Given the description of an element on the screen output the (x, y) to click on. 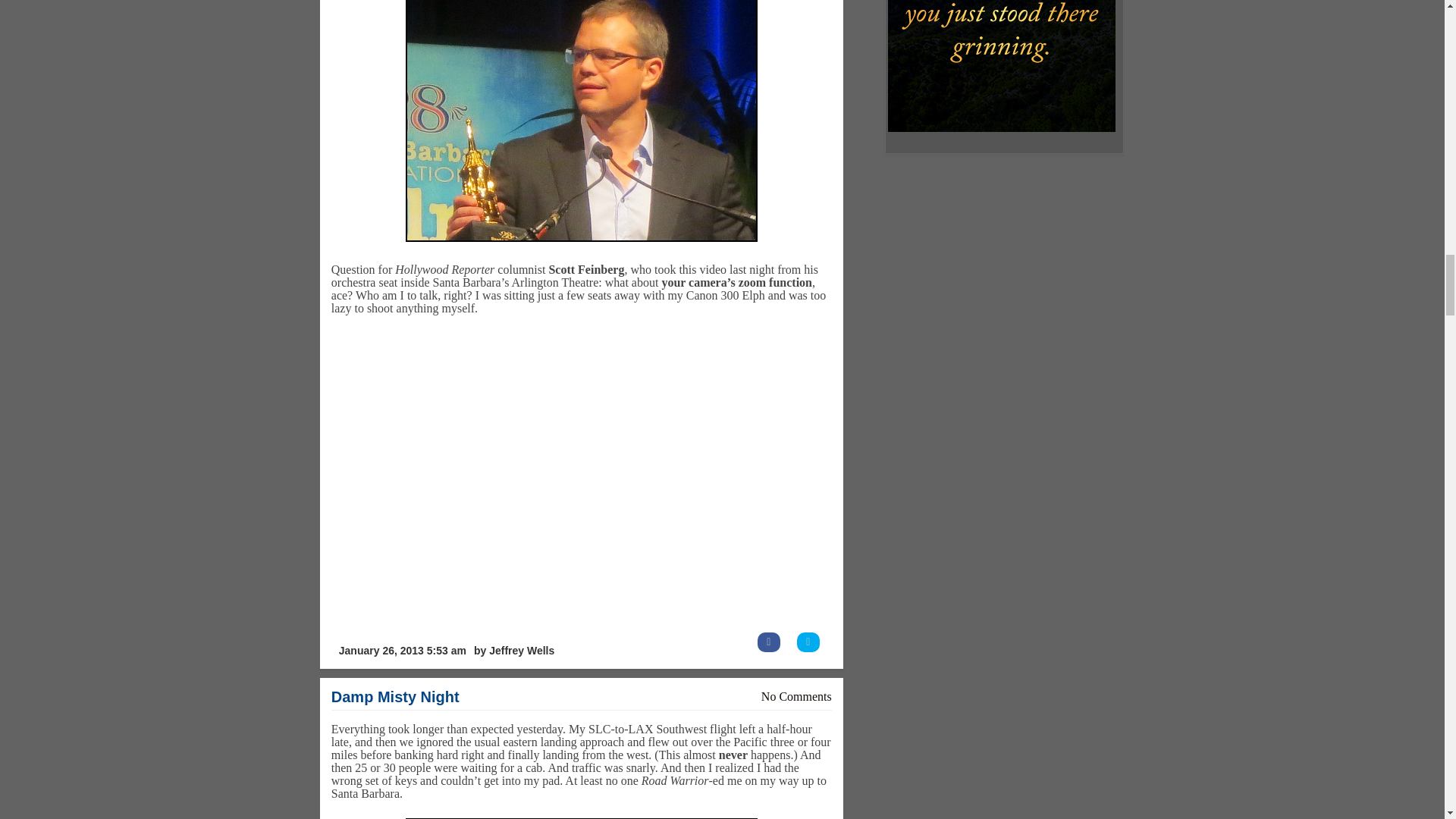
Permanent Link to Damp Misty Night (395, 696)
